Given the description of an element on the screen output the (x, y) to click on. 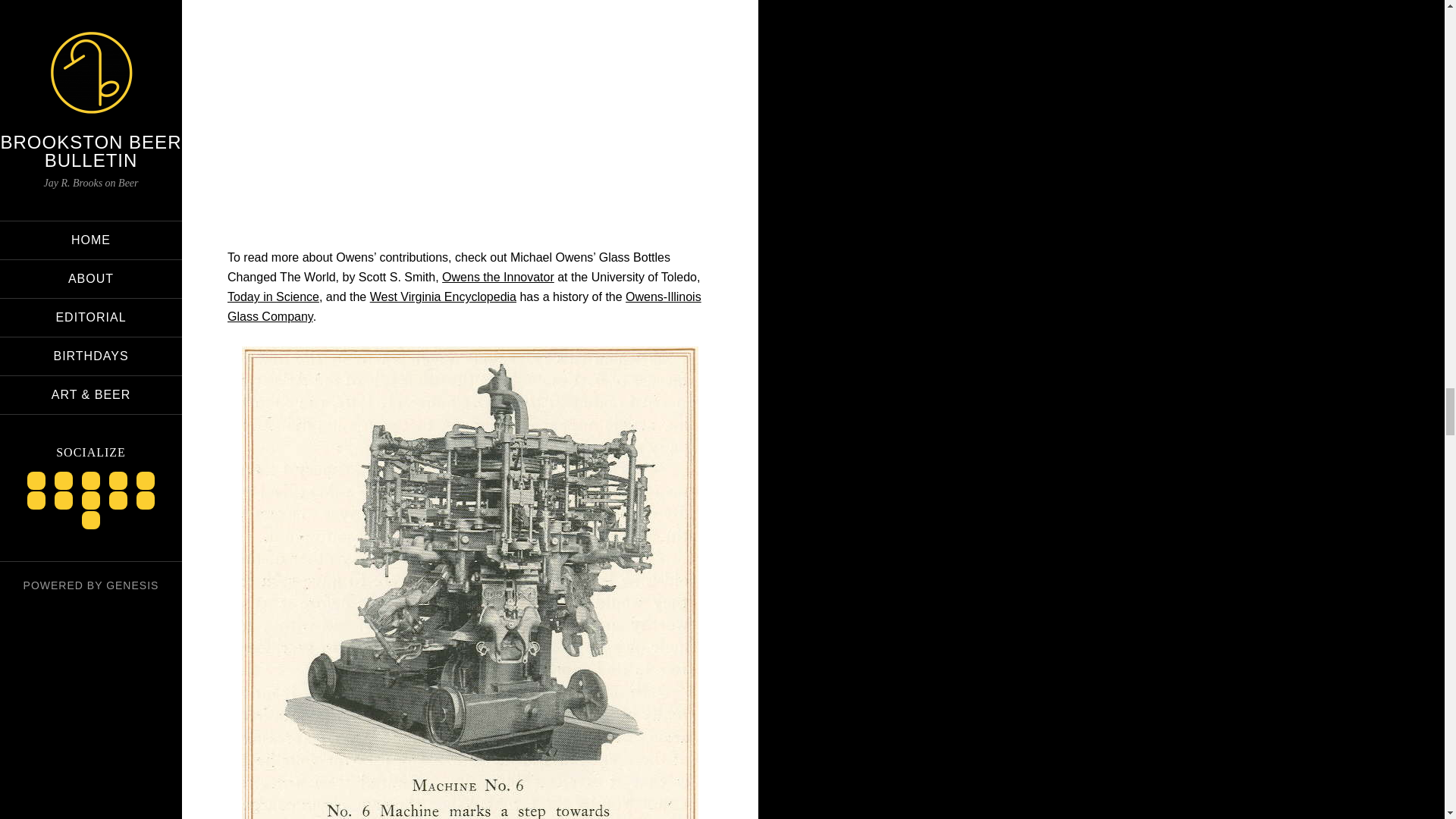
West Virginia Encyclopedia (442, 296)
Owens the Innovator (498, 277)
Today in Science (272, 296)
